Given the description of an element on the screen output the (x, y) to click on. 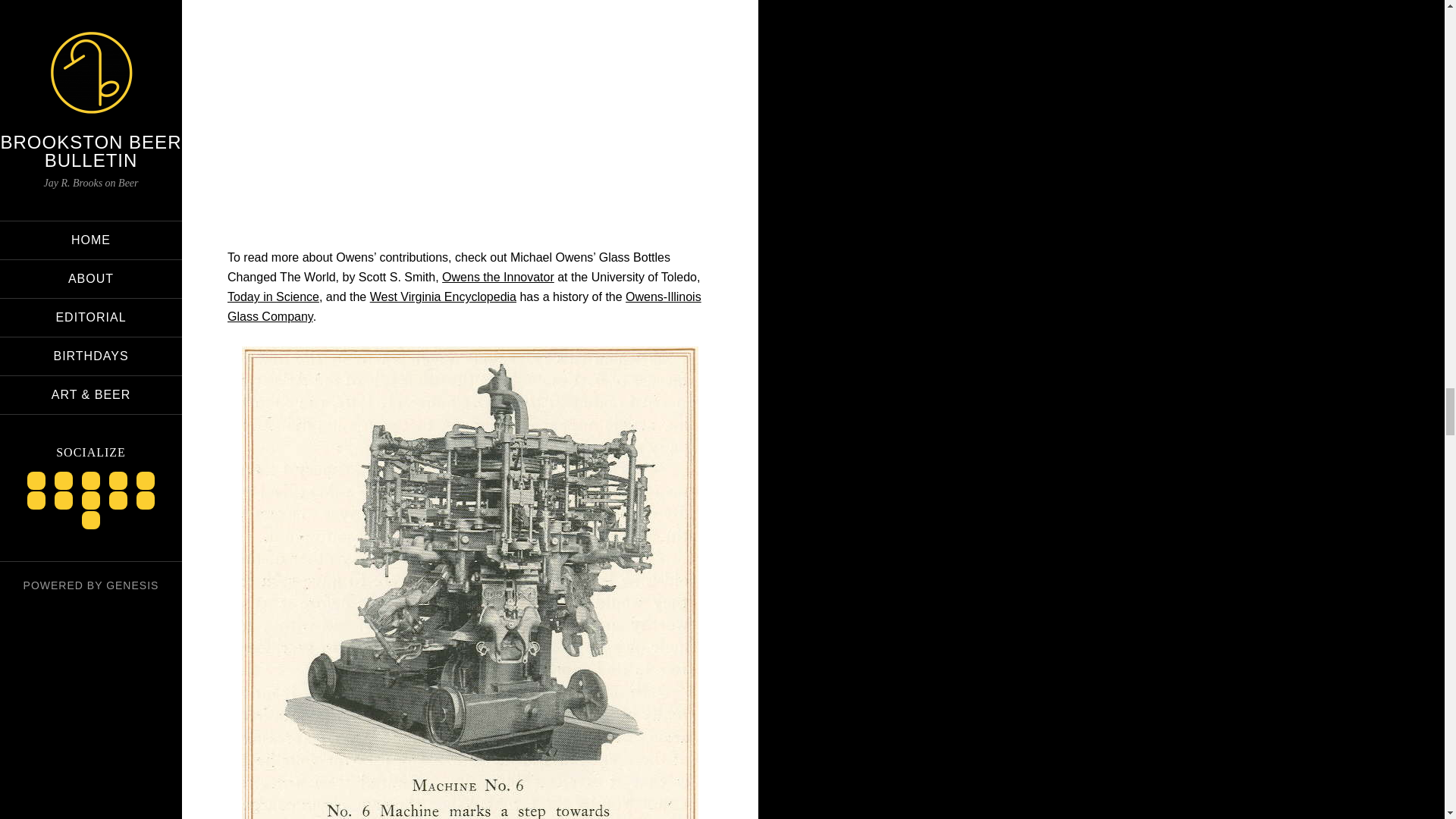
West Virginia Encyclopedia (442, 296)
Owens the Innovator (498, 277)
Today in Science (272, 296)
